Given the description of an element on the screen output the (x, y) to click on. 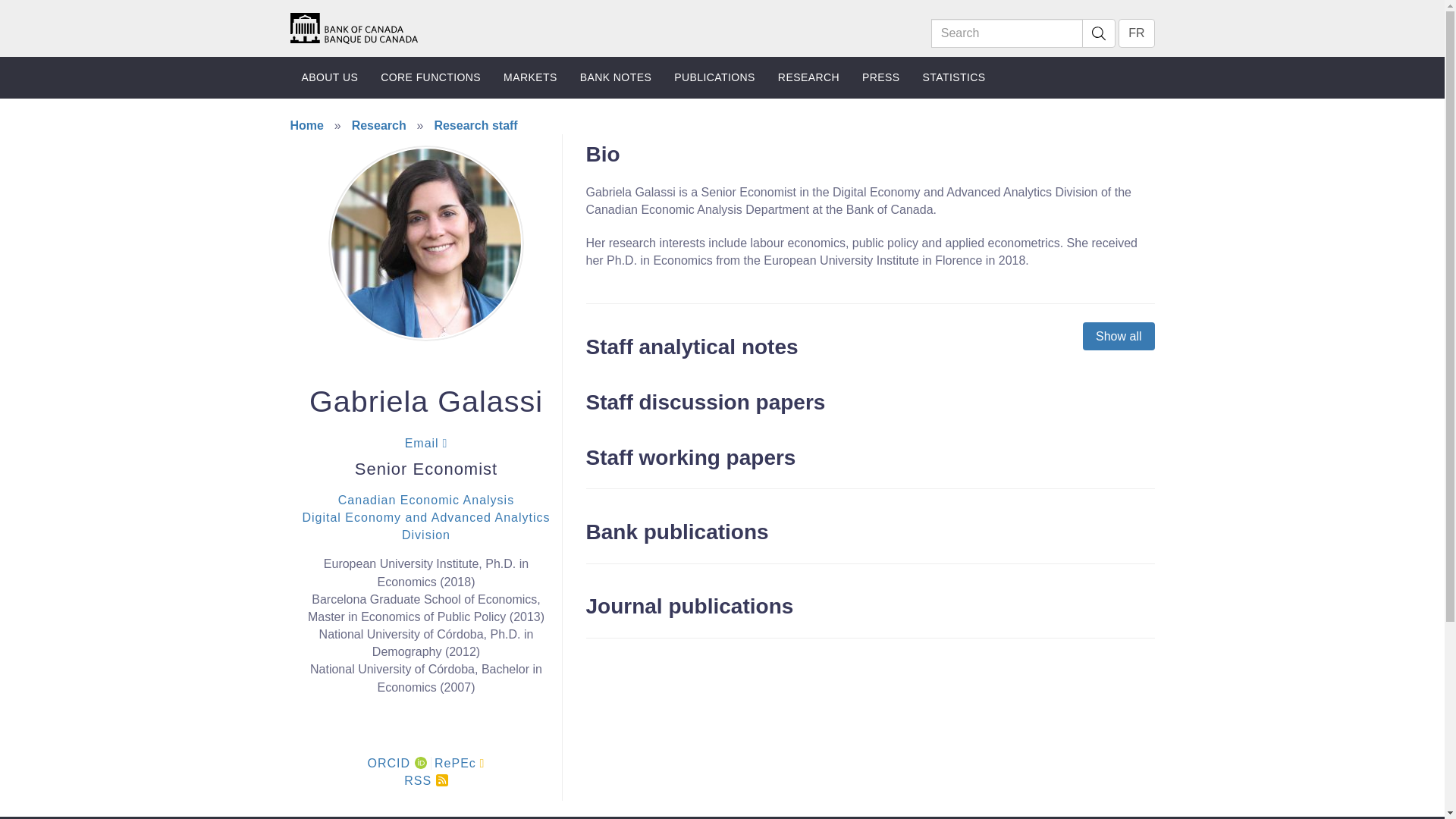
Change theme (1406, 781)
MARKETS (530, 77)
rss-feed-square (441, 779)
FR (1136, 32)
CORE FUNCTIONS (430, 77)
Author Orcid Link (420, 762)
Home (352, 27)
ABOUT US (329, 77)
Home (352, 27)
Home (352, 28)
Subscribe to Gabriela Galassi (425, 780)
Search (1098, 32)
Search (1007, 32)
